Given the description of an element on the screen output the (x, y) to click on. 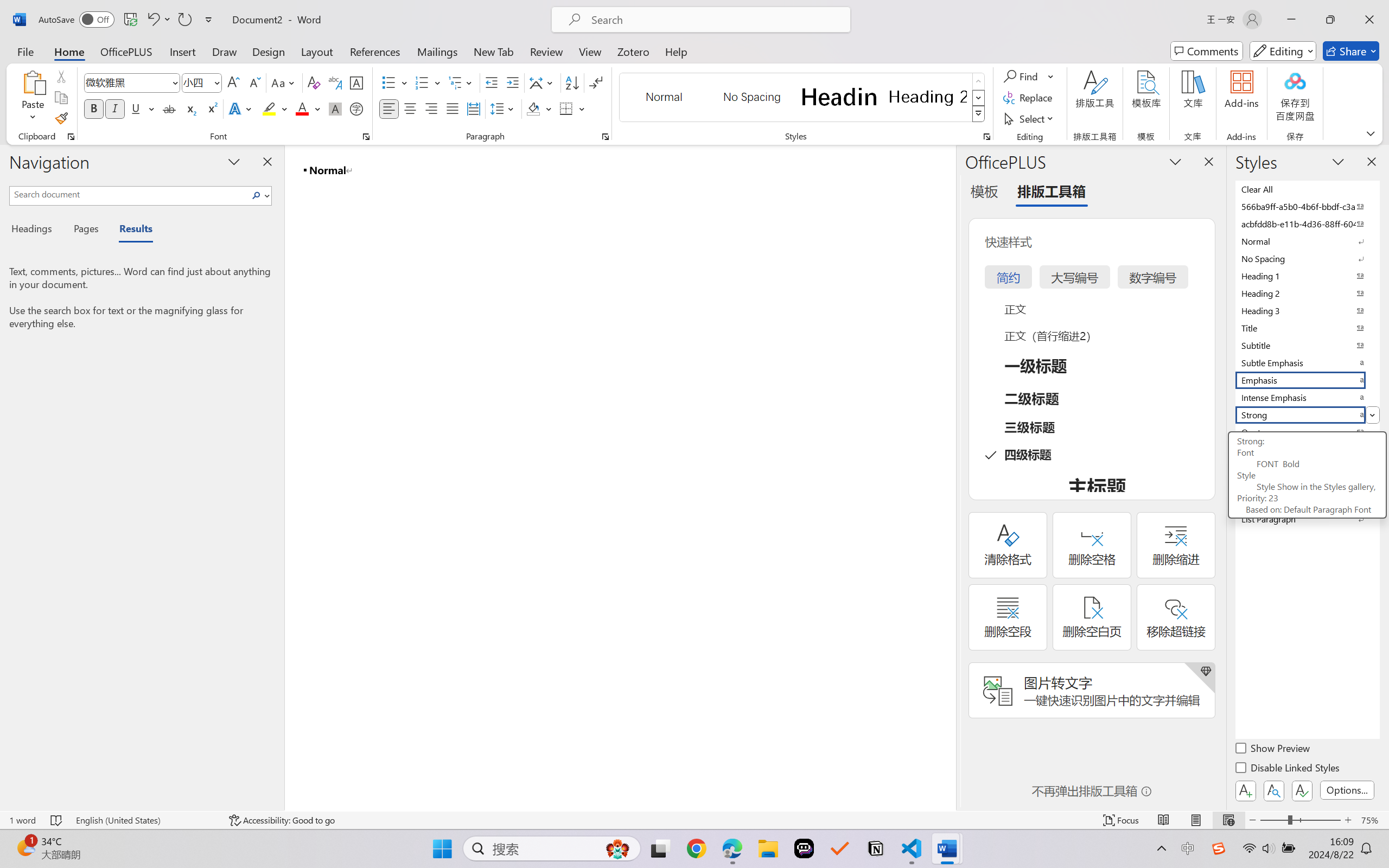
Zoom Out (1273, 819)
Font (126, 82)
Mode (1283, 50)
Sort... (571, 82)
Find (1029, 75)
Zoom In (1348, 819)
Class: NetUIButton (1301, 790)
Row Down (978, 97)
Intense Reference (1306, 484)
Home (69, 51)
Paste (33, 97)
